Given the description of an element on the screen output the (x, y) to click on. 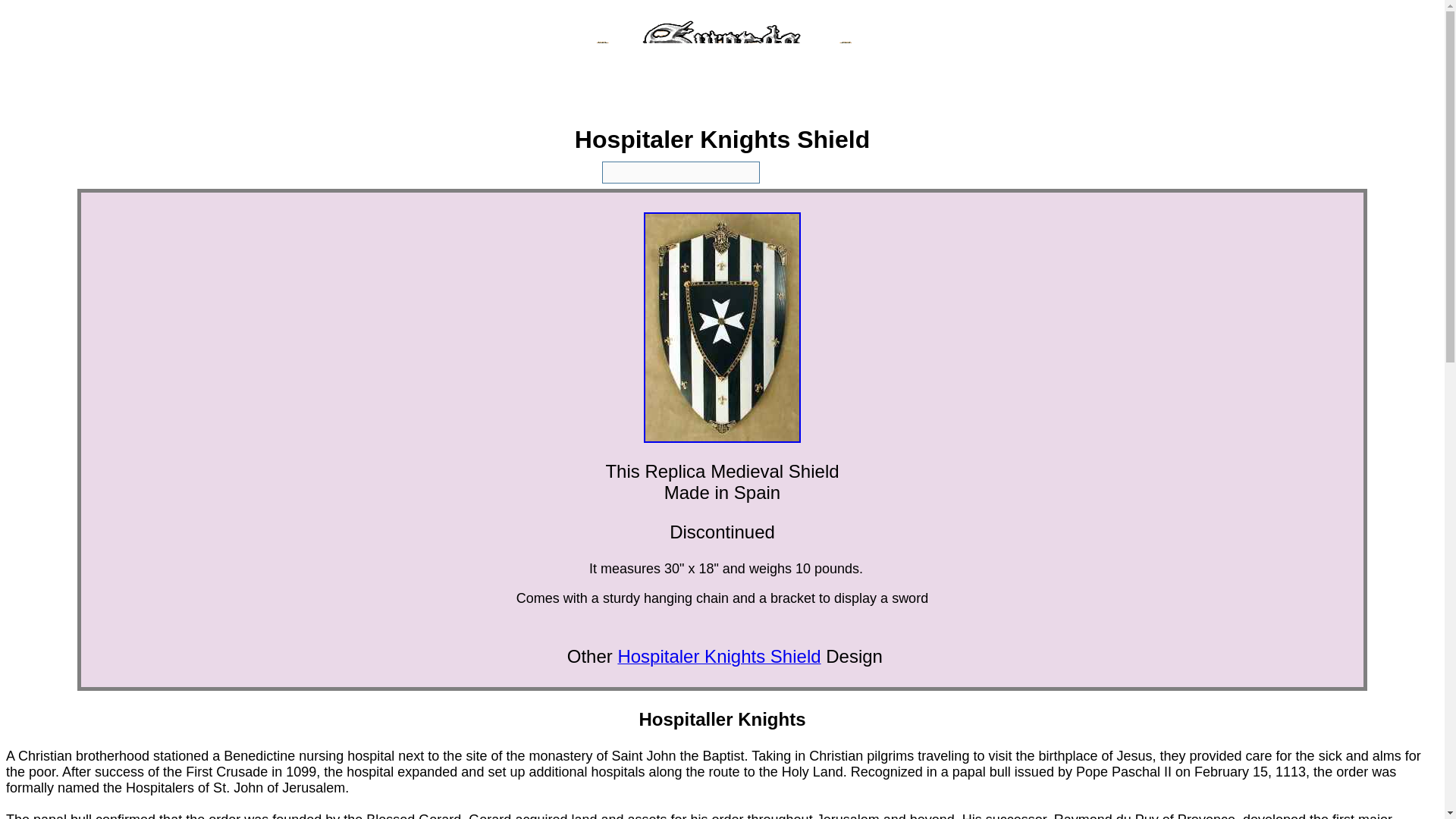
Hospitaler Knights Shield (719, 658)
